Given the description of an element on the screen output the (x, y) to click on. 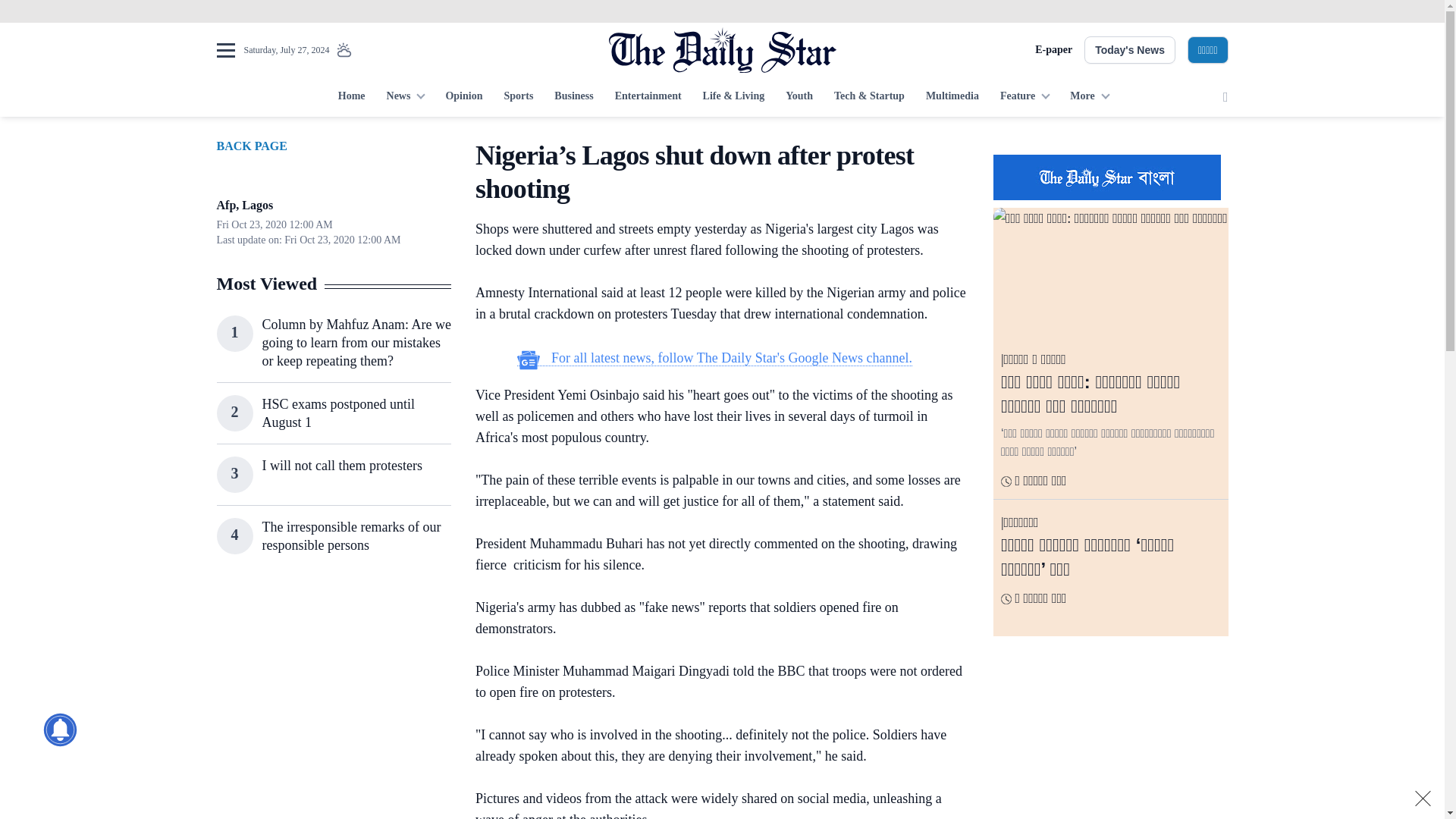
Opinion (463, 96)
News (405, 96)
Multimedia (952, 96)
Home (351, 96)
Sports (518, 96)
E-paper (1053, 49)
Youth (799, 96)
Business (573, 96)
Today's News (1129, 49)
Entertainment (647, 96)
Feature (1024, 96)
